Given the description of an element on the screen output the (x, y) to click on. 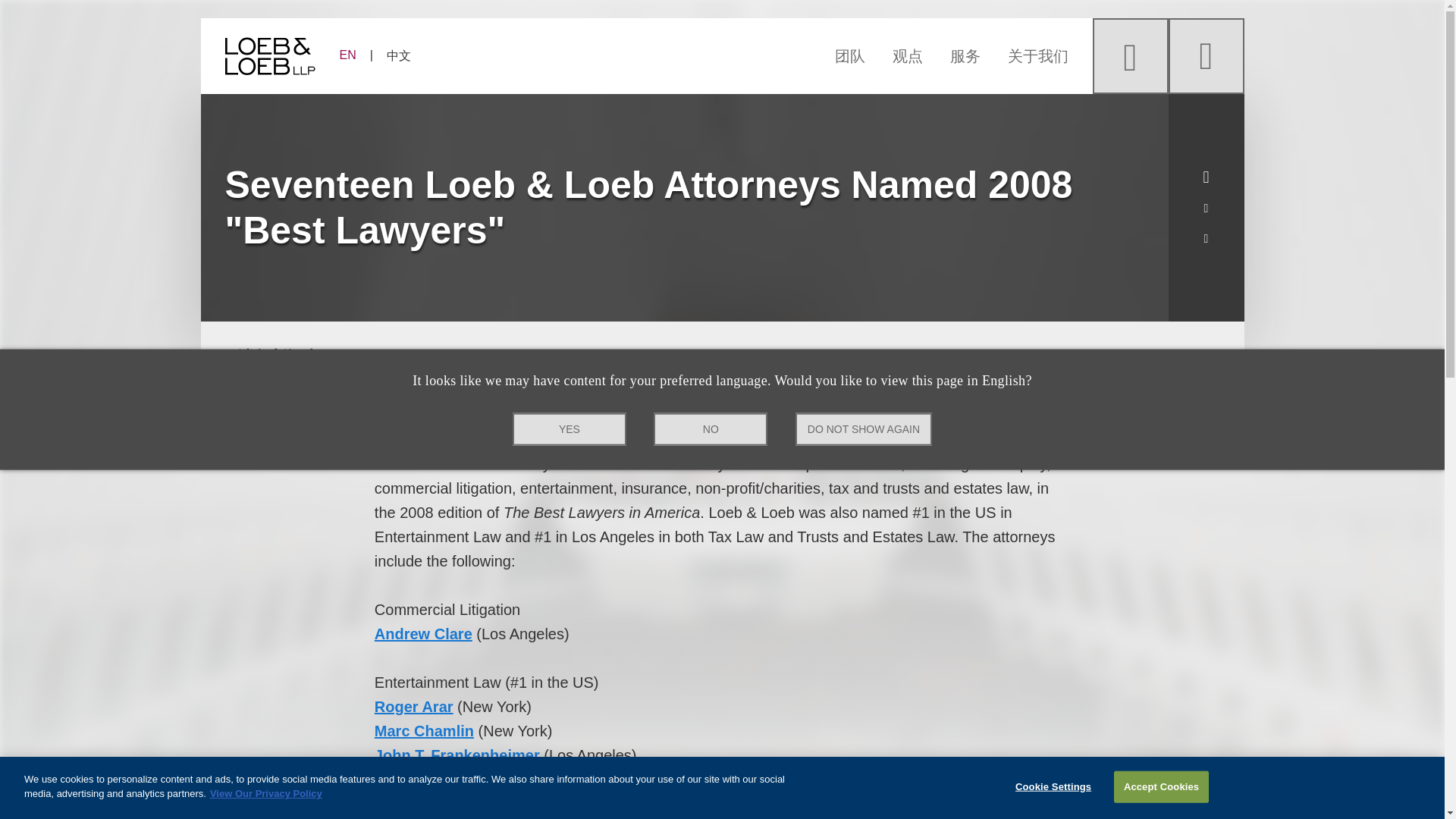
EN (354, 54)
